Given the description of an element on the screen output the (x, y) to click on. 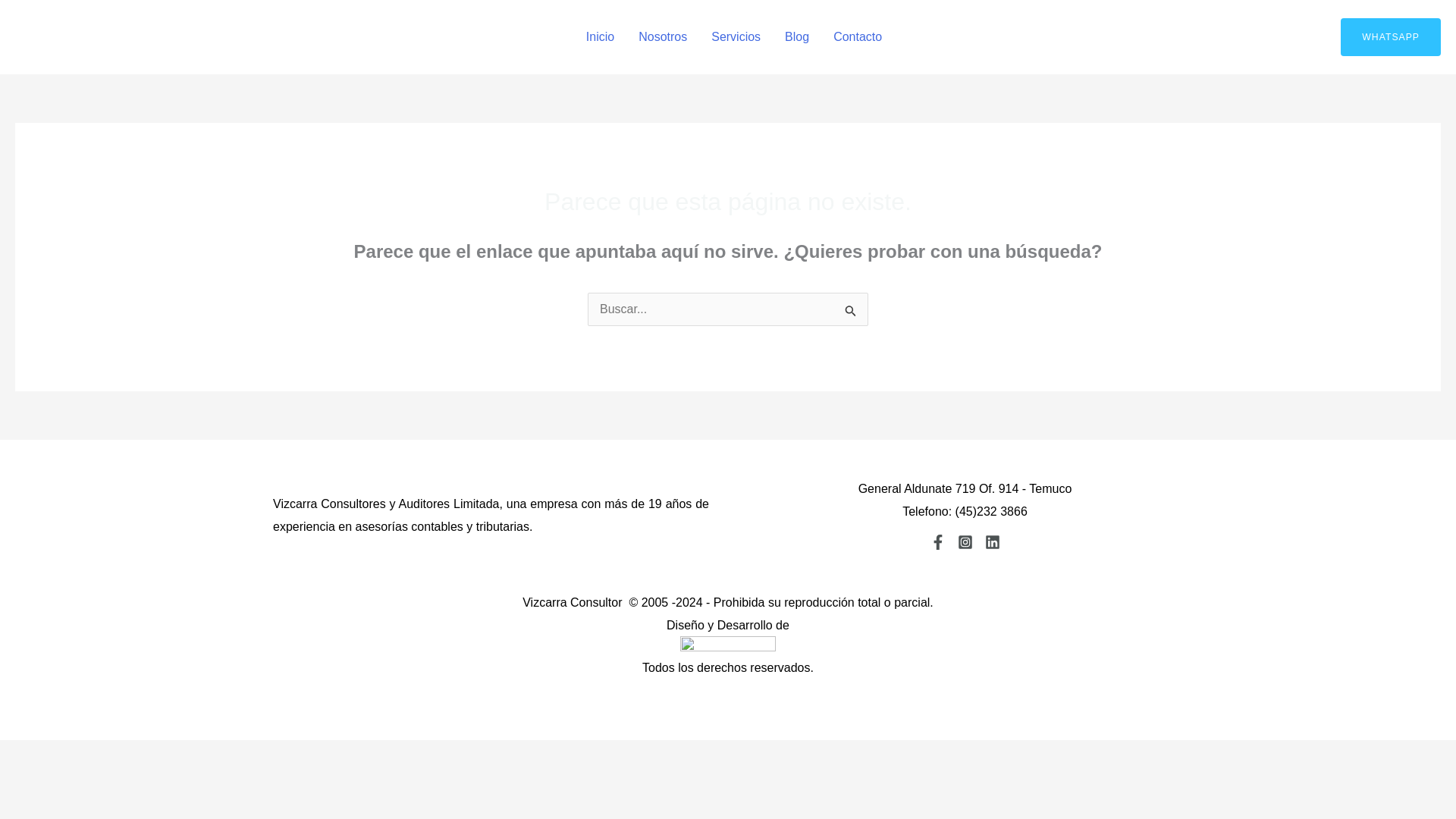
WHATSAPP (1390, 37)
Nosotros (662, 36)
Buscar (850, 311)
Servicios (735, 36)
Contacto (851, 36)
Buscar (850, 311)
Buscar (850, 311)
